Given the description of an element on the screen output the (x, y) to click on. 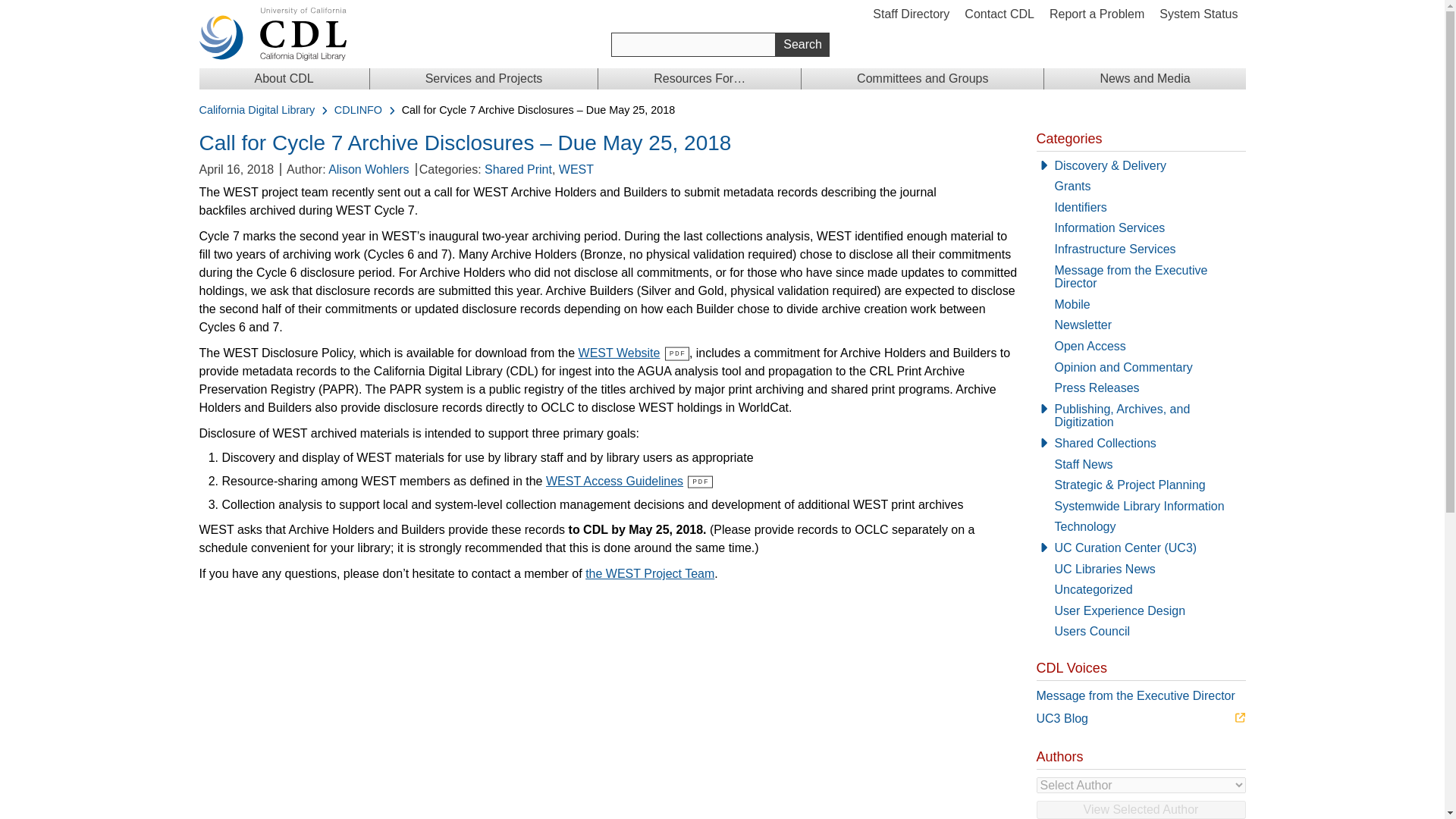
Search (802, 44)
Services and Projects (483, 78)
About CDL (283, 78)
